Given the description of an element on the screen output the (x, y) to click on. 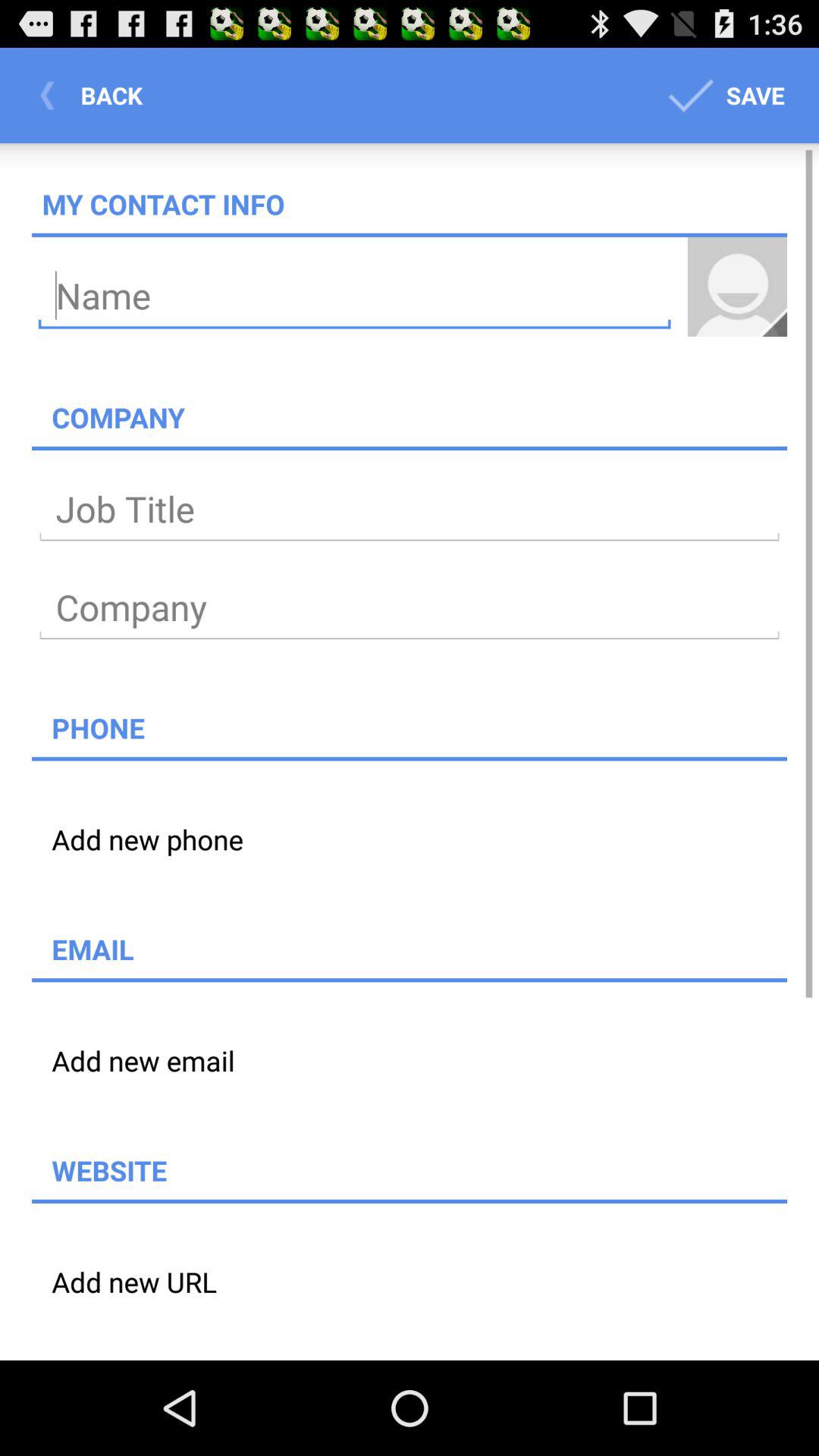
click item to the left of the save button (95, 95)
